Given the description of an element on the screen output the (x, y) to click on. 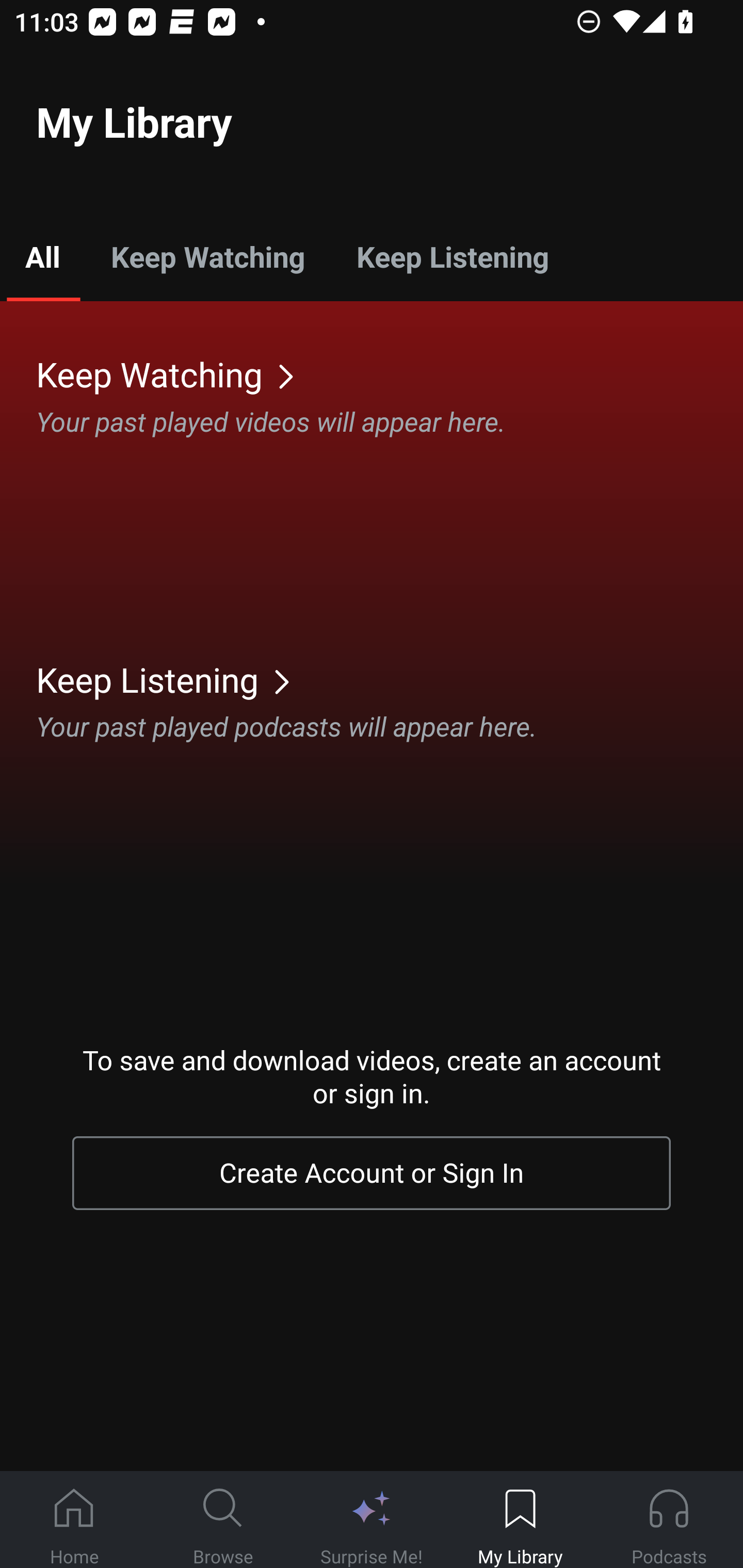
All (42, 256)
Keep Watching (207, 256)
Keep Listening (452, 256)
Keep Watching (389, 373)
Keep Listening (389, 679)
Create Account or Sign In (371, 1173)
Home (74, 1520)
Browse (222, 1520)
Surprise Me! (371, 1520)
My Library (519, 1520)
Podcasts (668, 1520)
